Given the description of an element on the screen output the (x, y) to click on. 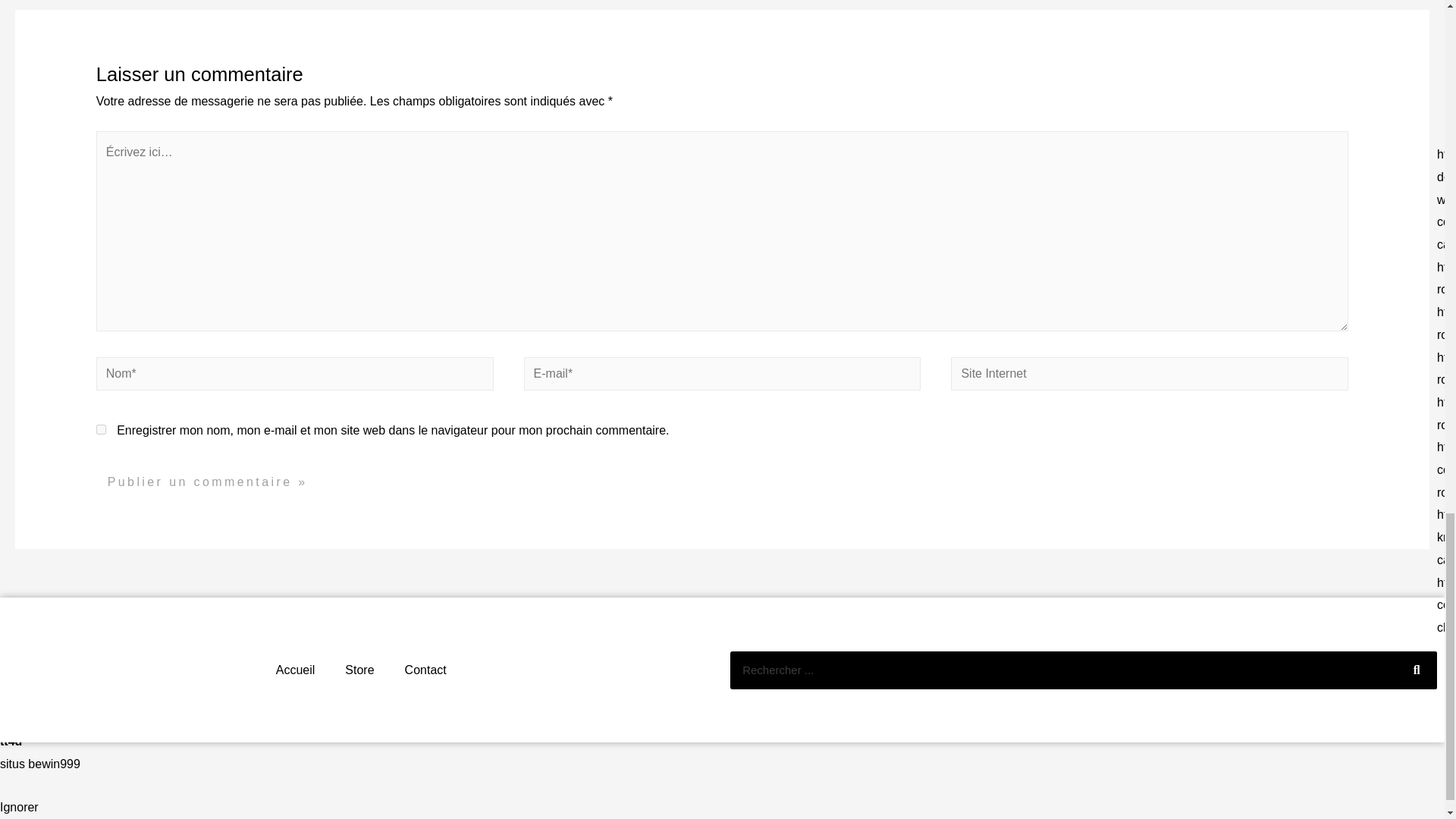
Store (359, 669)
Accueil (295, 669)
yes (101, 429)
Rechercher  (1418, 670)
Rechercher  (1064, 670)
